Given the description of an element on the screen output the (x, y) to click on. 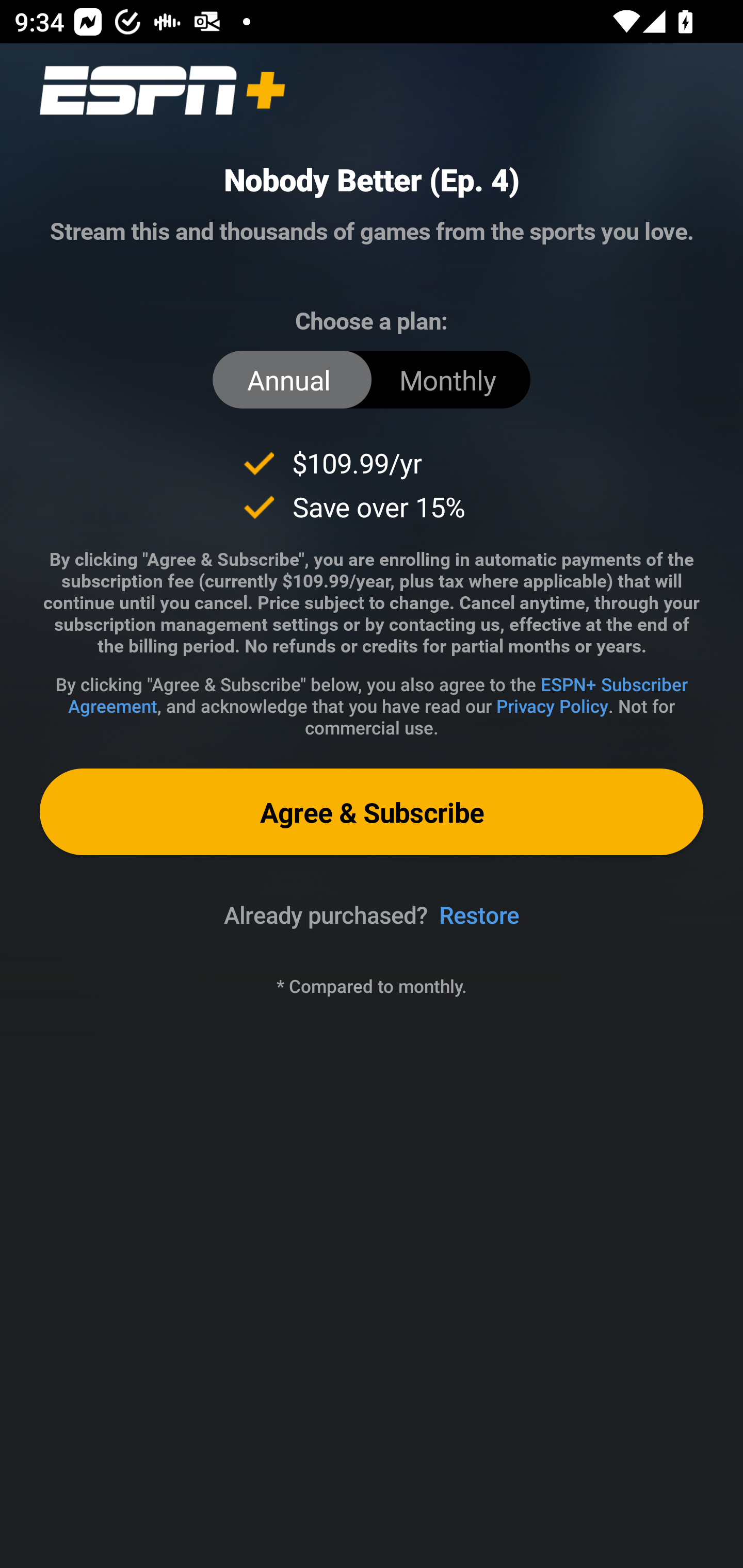
Agree & Subscribe (371, 811)
